Given the description of an element on the screen output the (x, y) to click on. 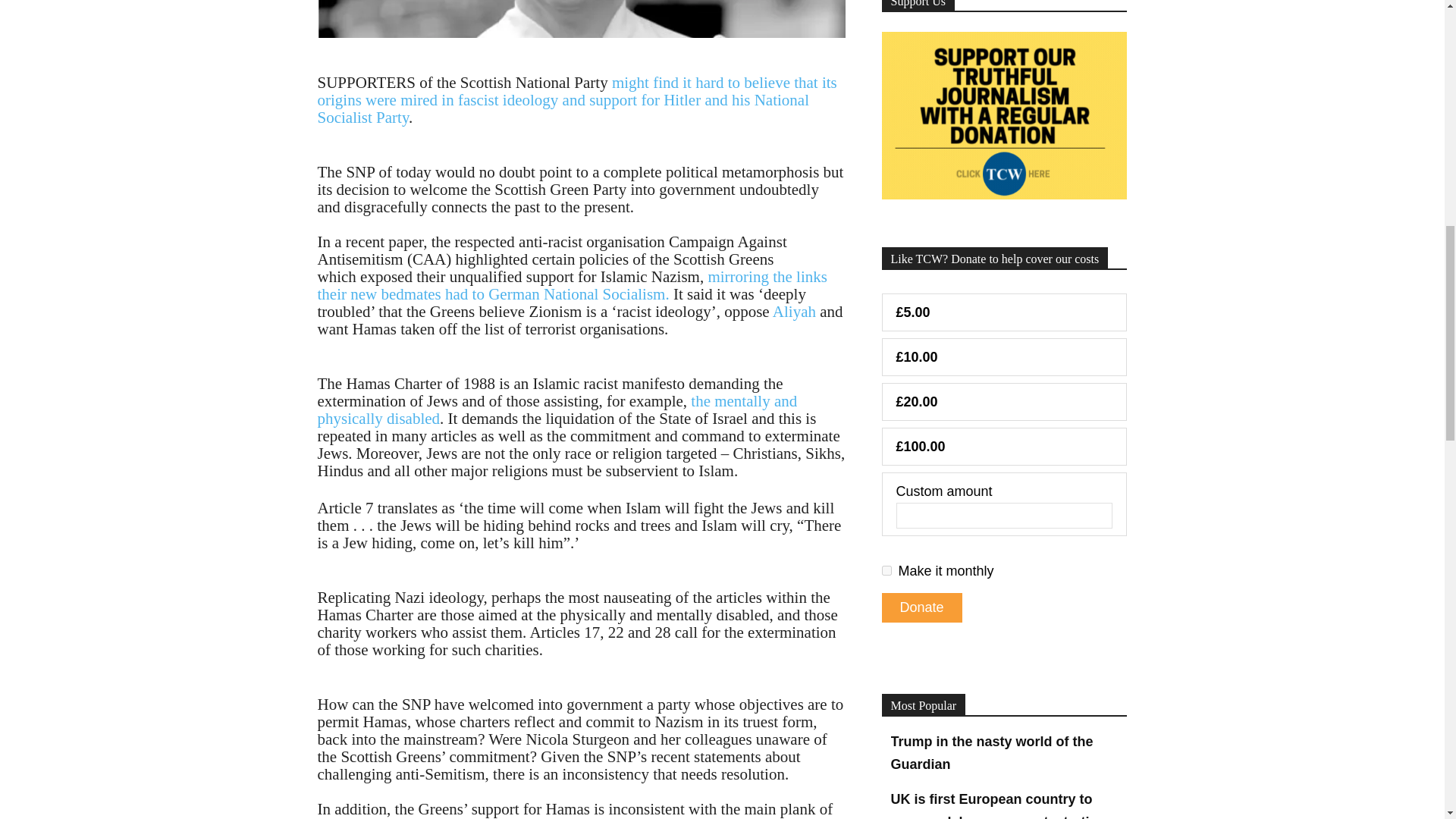
month (885, 570)
